Given the description of an element on the screen output the (x, y) to click on. 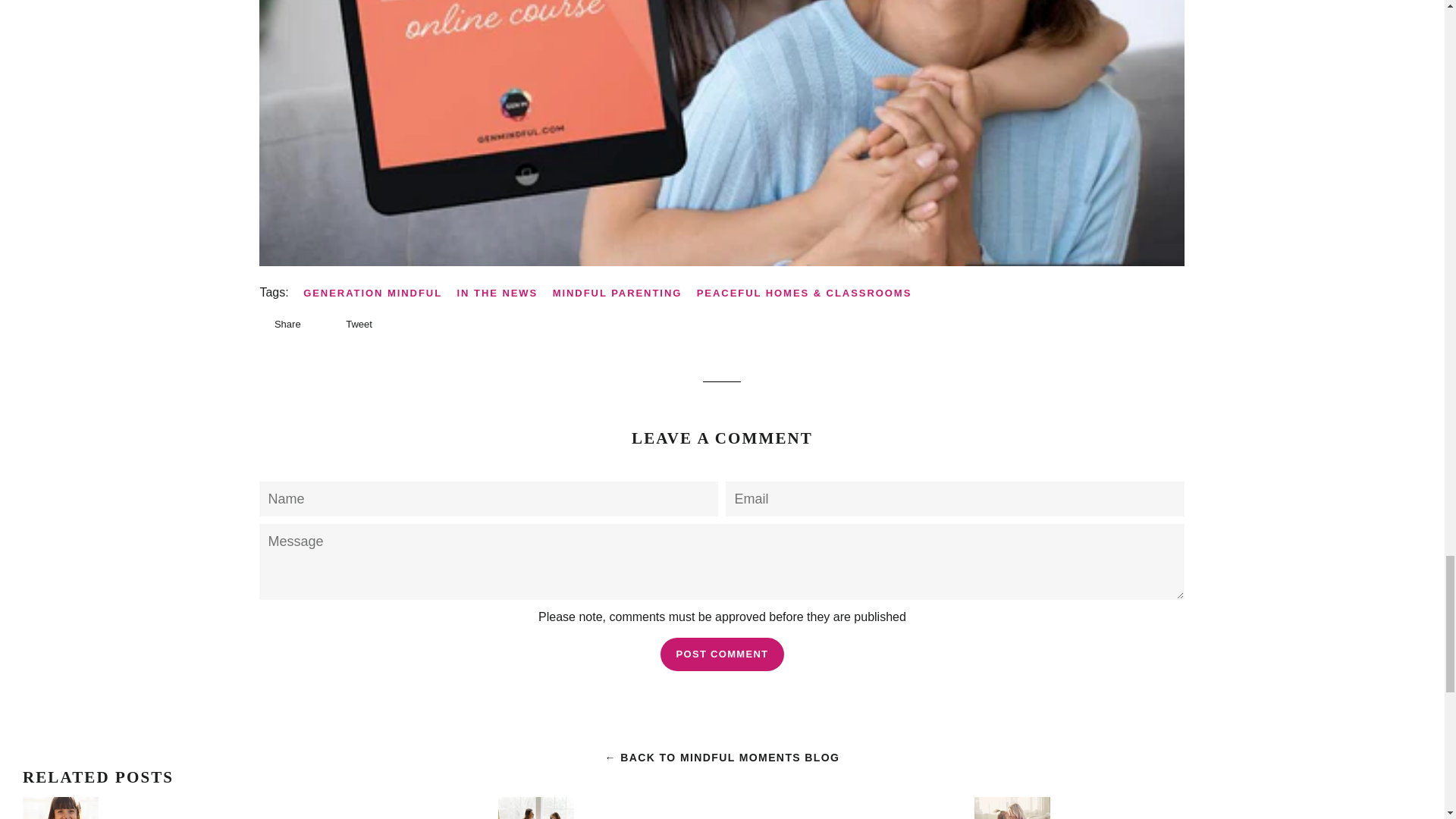
Positive Parenting Course (722, 261)
Post comment (722, 654)
